Given the description of an element on the screen output the (x, y) to click on. 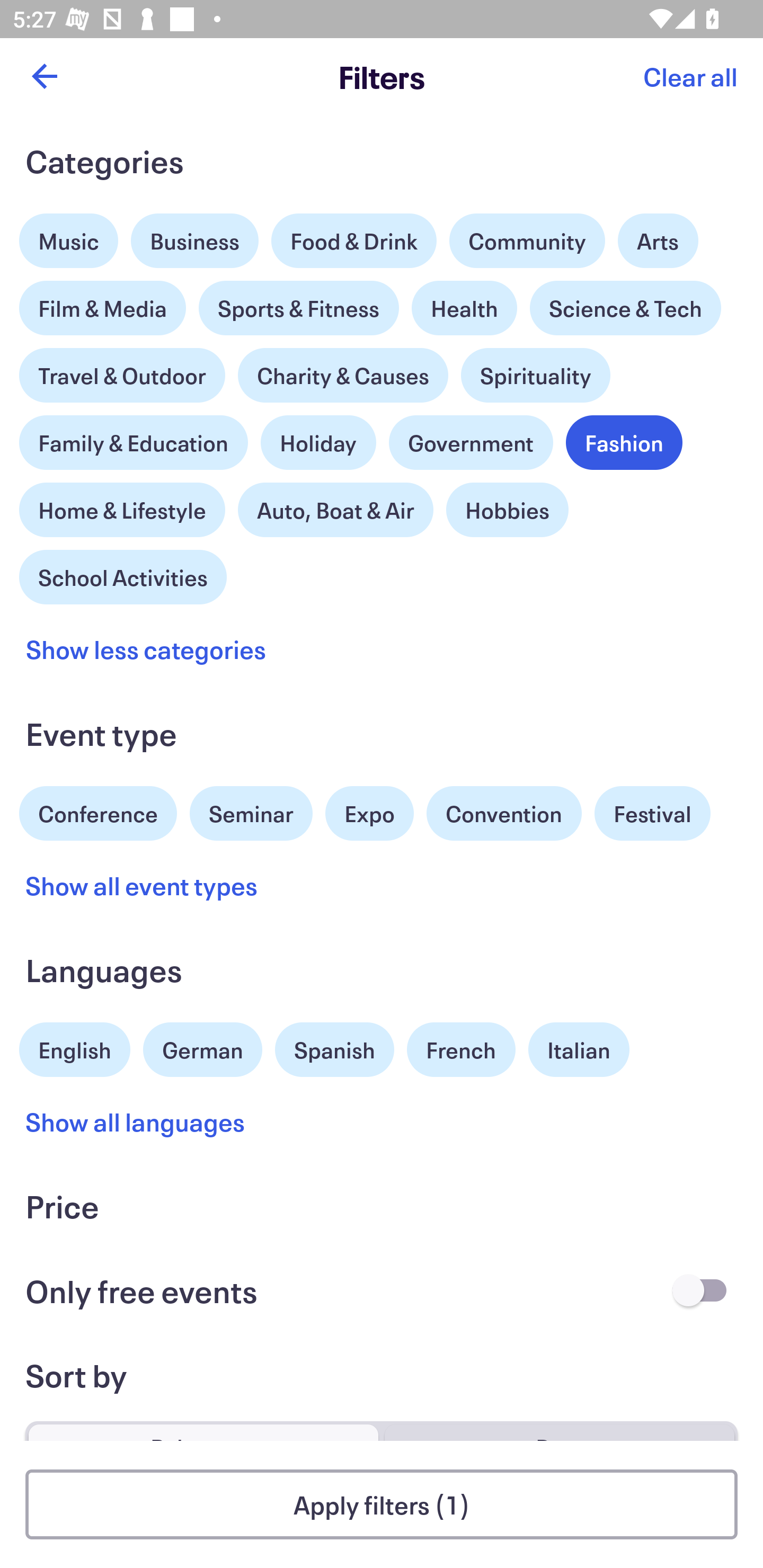
Back button (44, 75)
Clear all (690, 75)
Music (68, 235)
Business (194, 240)
Food & Drink (353, 240)
Community (527, 240)
Arts (658, 235)
Film & Media (102, 303)
Sports & Fitness (298, 307)
Health (464, 307)
Science & Tech (625, 307)
Travel & Outdoor (122, 370)
Charity & Causes (343, 375)
Spirituality (535, 375)
Family & Education (133, 442)
Holiday (318, 437)
Government (471, 442)
Fashion (624, 442)
Home & Lifestyle (122, 505)
Auto, Boat & Air (335, 509)
Hobbies (507, 509)
School Activities (122, 575)
Show less categories (145, 648)
Conference (98, 811)
Seminar (250, 813)
Expo (369, 813)
Convention (503, 813)
Festival (652, 813)
Show all event types (141, 884)
English (74, 1047)
German (202, 1047)
Spanish (334, 1049)
French (460, 1049)
Italian (578, 1049)
Show all languages (135, 1121)
Apply filters (1) (381, 1504)
